Given the description of an element on the screen output the (x, y) to click on. 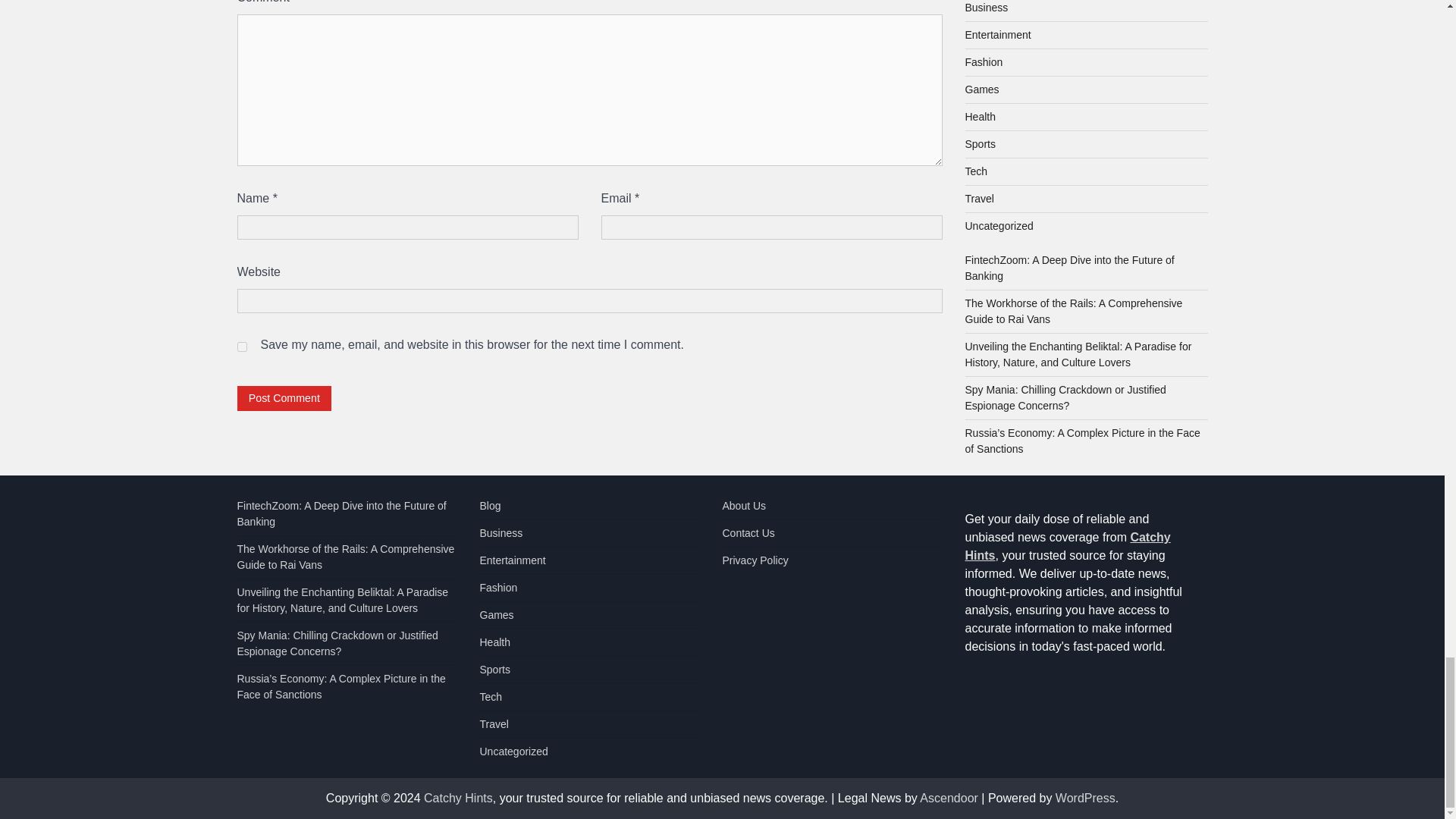
Post Comment (283, 398)
yes (240, 347)
